Given the description of an element on the screen output the (x, y) to click on. 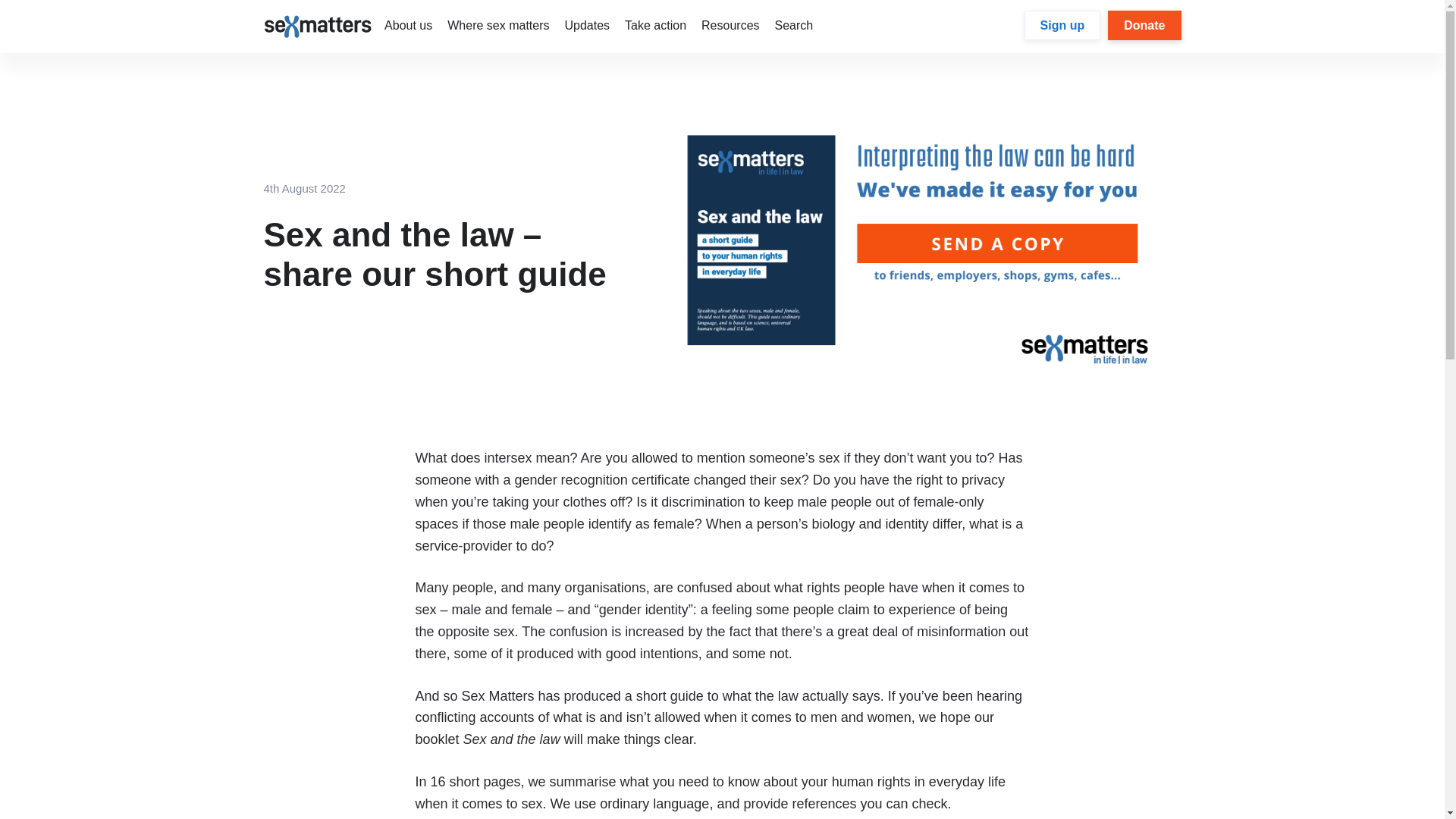
Sign up (1062, 25)
Where sex matters (497, 24)
Take action (654, 24)
About us (408, 24)
Resources (729, 24)
Updates (587, 24)
Donate (1144, 25)
Search (793, 24)
